Given the description of an element on the screen output the (x, y) to click on. 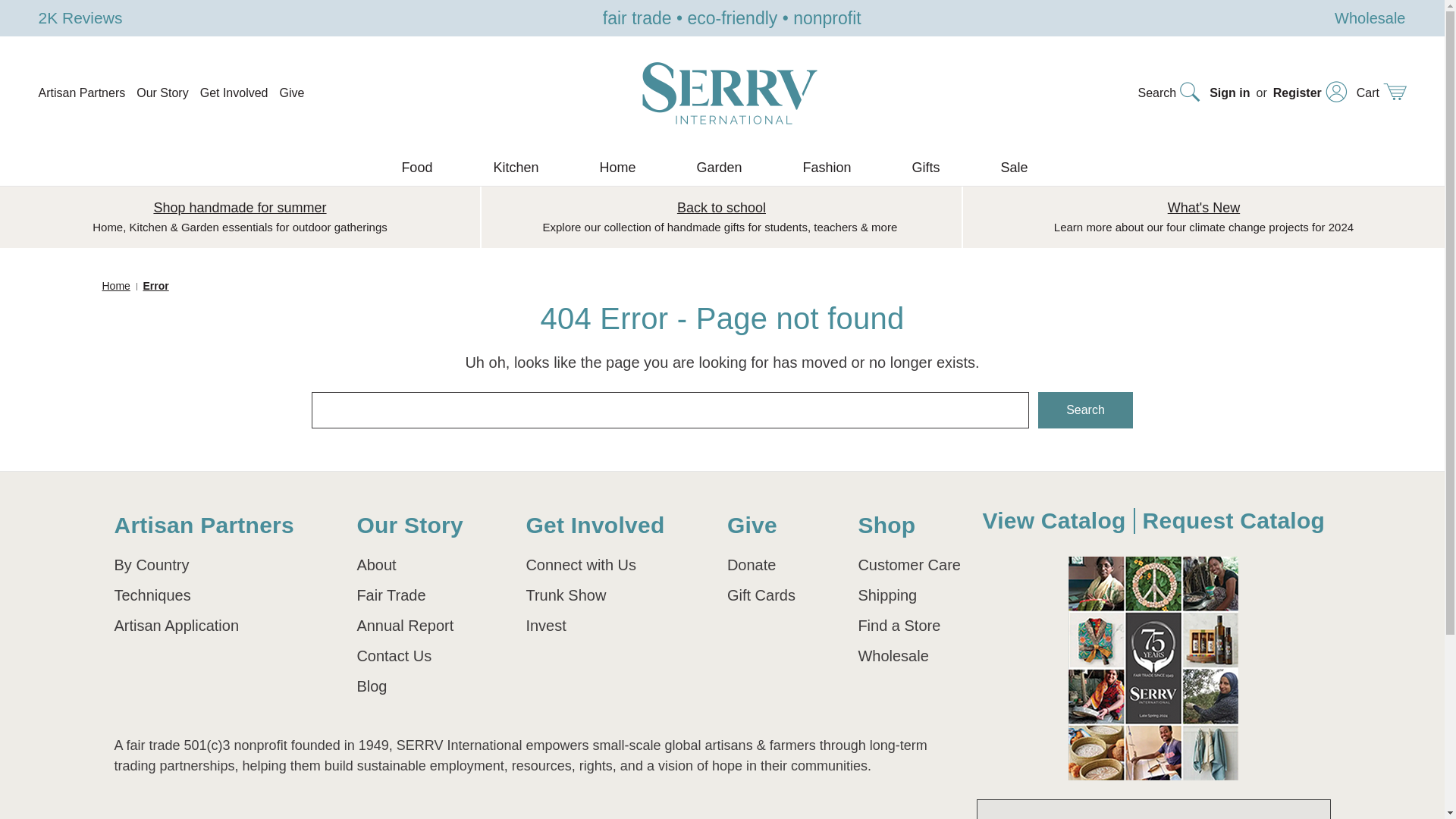
SERRV International (729, 92)
Give (291, 92)
Kitchen (523, 167)
Register (1310, 93)
Sign in (1229, 93)
Artisan Partners (81, 92)
Food (424, 167)
Home (624, 167)
Get Involved (233, 92)
Our Story (161, 92)
